Given the description of an element on the screen output the (x, y) to click on. 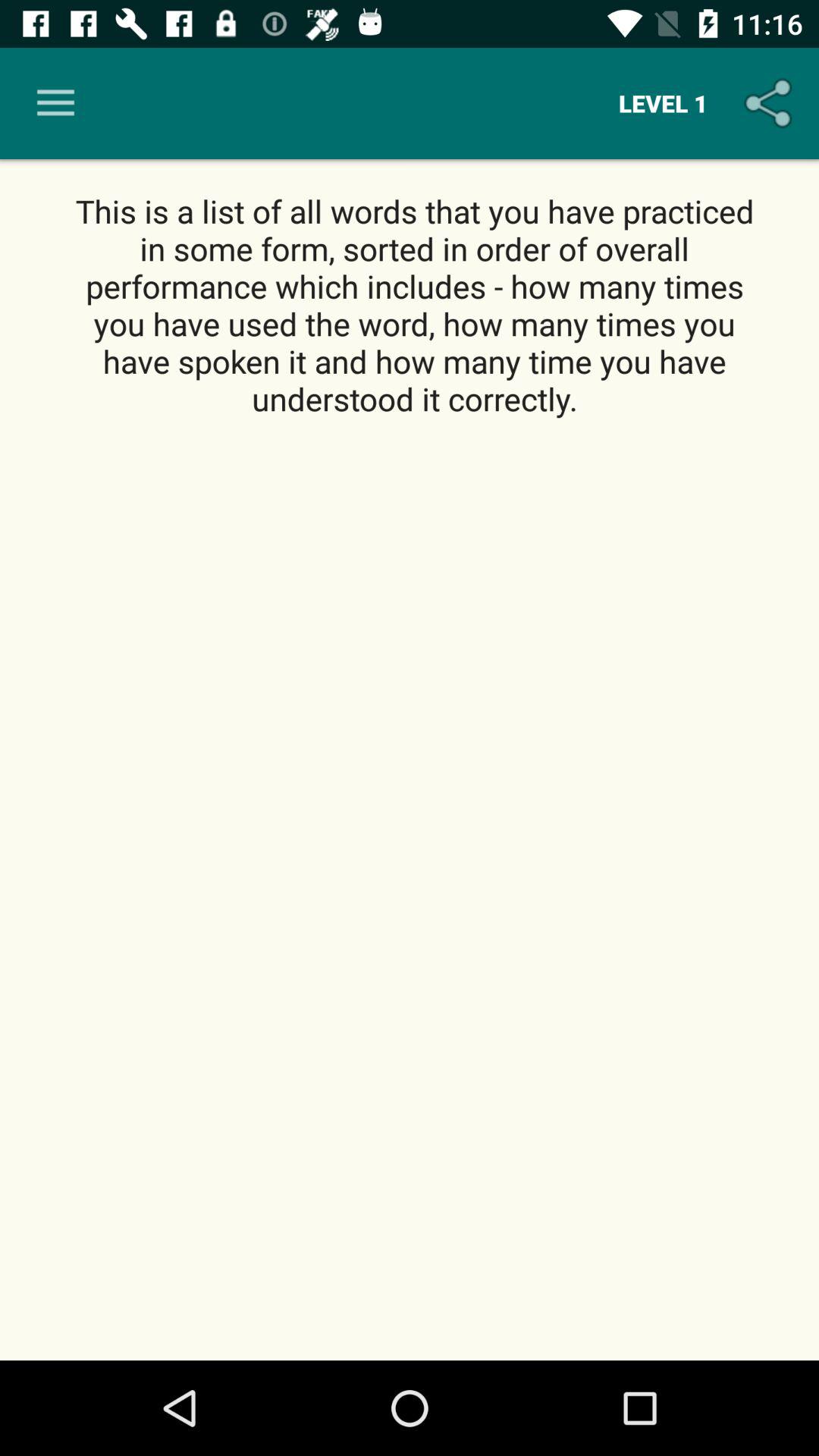
choose icon next to the level 1 item (771, 103)
